Given the description of an element on the screen output the (x, y) to click on. 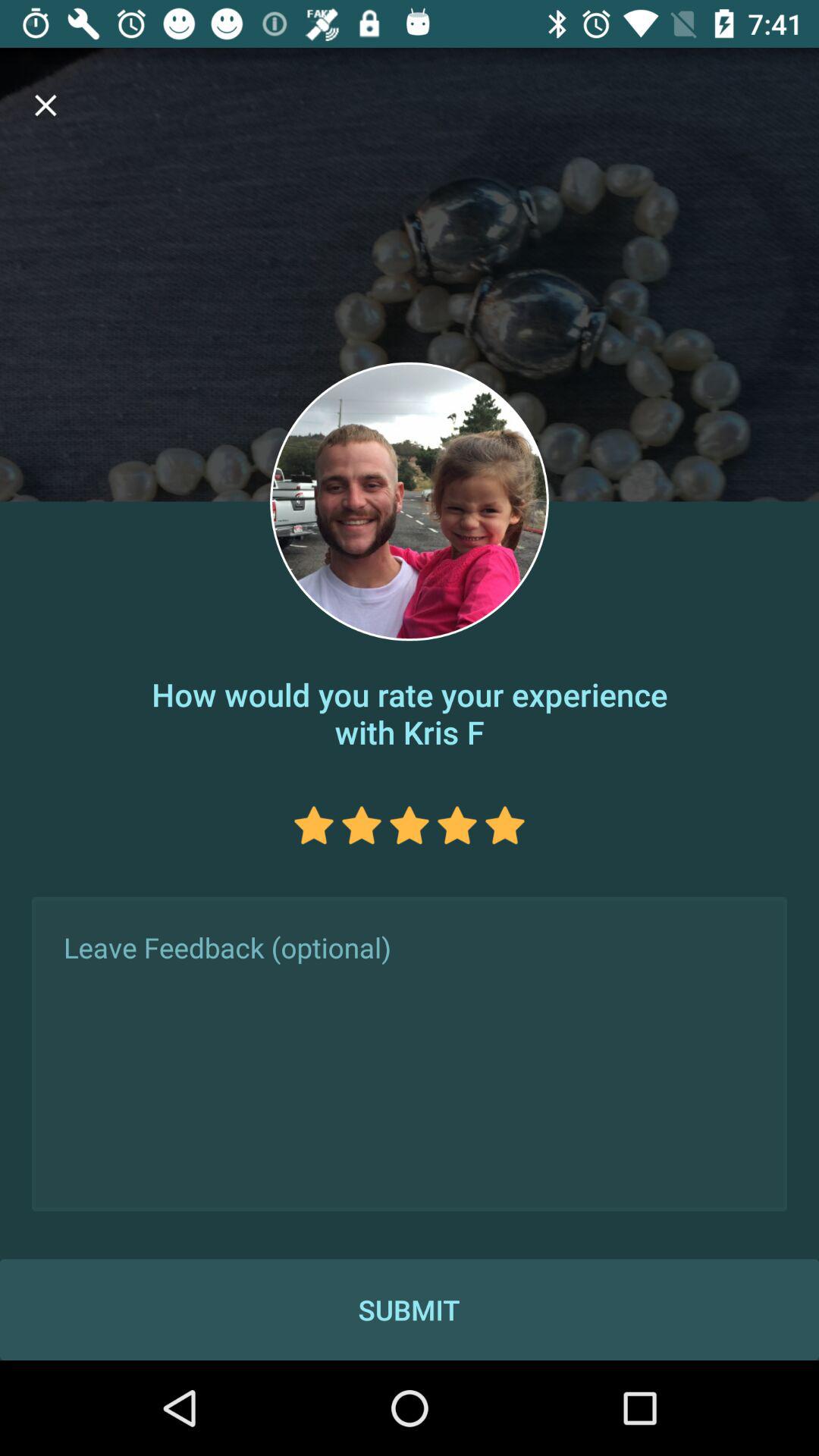
rating (361, 825)
